Given the description of an element on the screen output the (x, y) to click on. 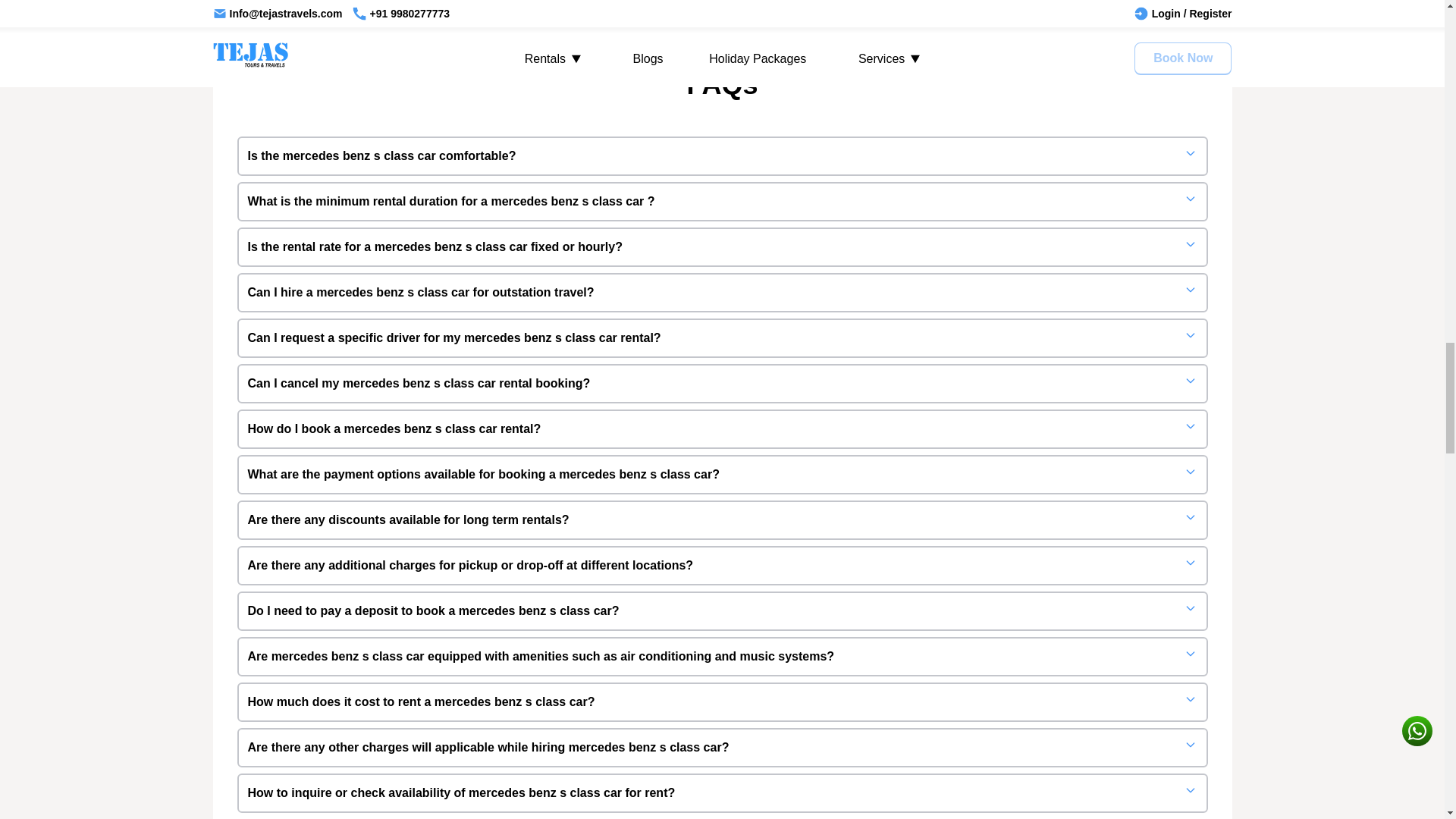
Are there any discounts available for long term rentals? (721, 519)
Can I cancel my mercedes benz s class car rental booking? (721, 383)
How do I book a mercedes benz s class car rental? (721, 428)
